Given the description of an element on the screen output the (x, y) to click on. 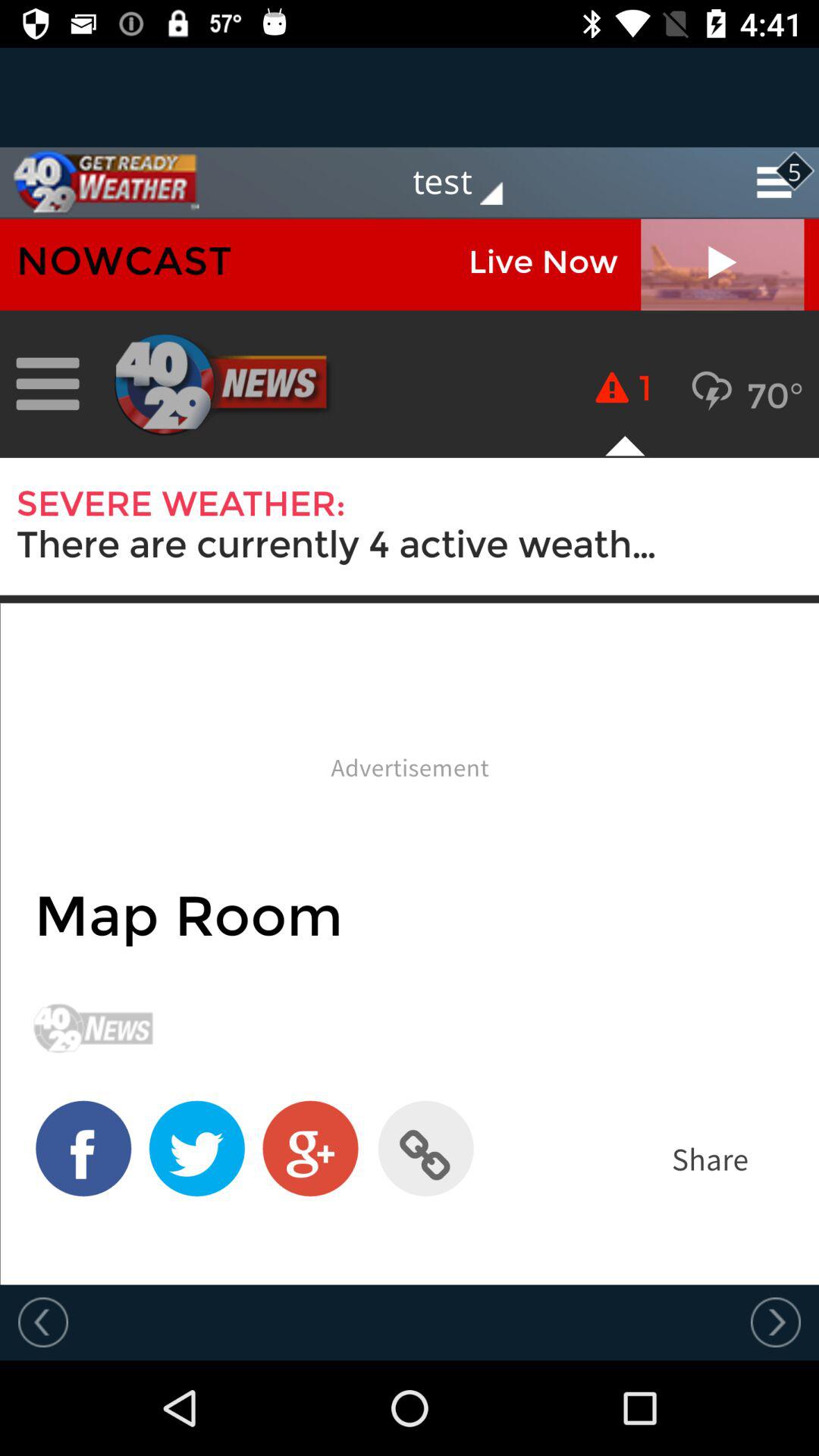
open weather report (409, 751)
